Given the description of an element on the screen output the (x, y) to click on. 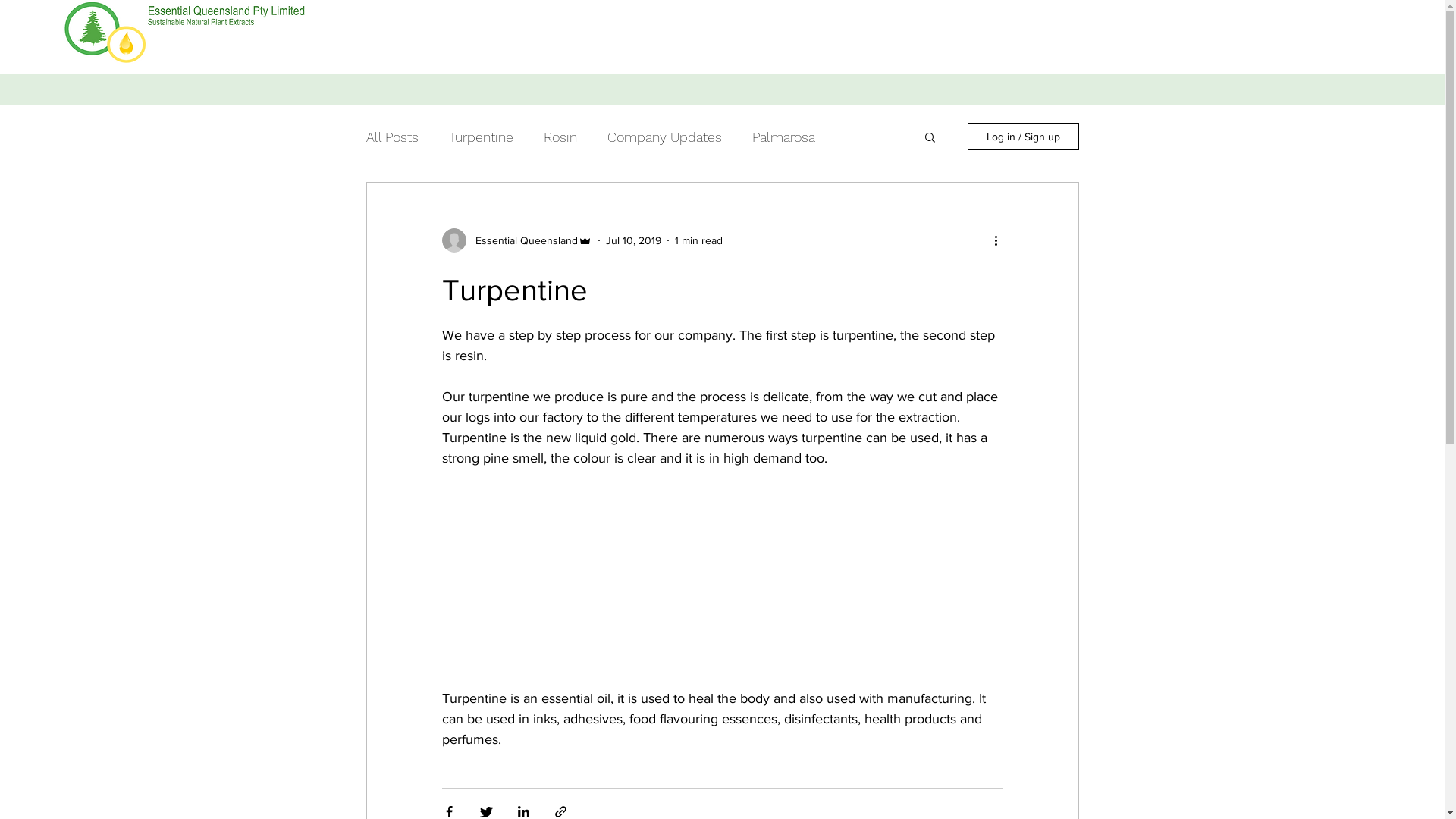
Turpentine Element type: text (480, 136)
Company Updates Element type: text (663, 136)
All Posts Element type: text (391, 136)
Palmarosa Element type: text (783, 136)
1 like. Post not marked as liked
1 Element type: text (992, 668)
Log in / Sign up Element type: text (1023, 136)
Rosin Element type: text (559, 136)
See All Element type: text (1062, 751)
